Given the description of an element on the screen output the (x, y) to click on. 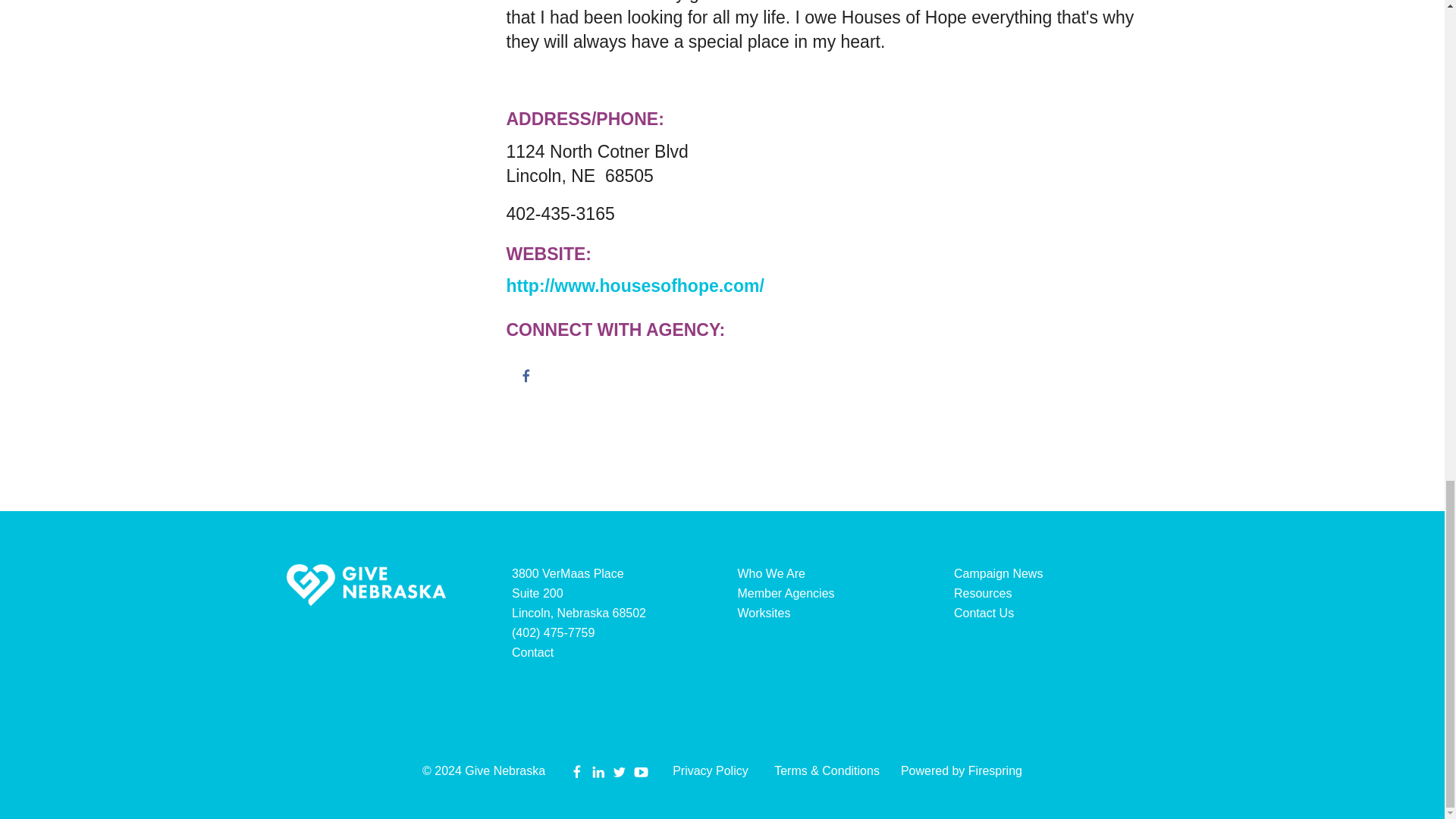
logo (365, 585)
